Given the description of an element on the screen output the (x, y) to click on. 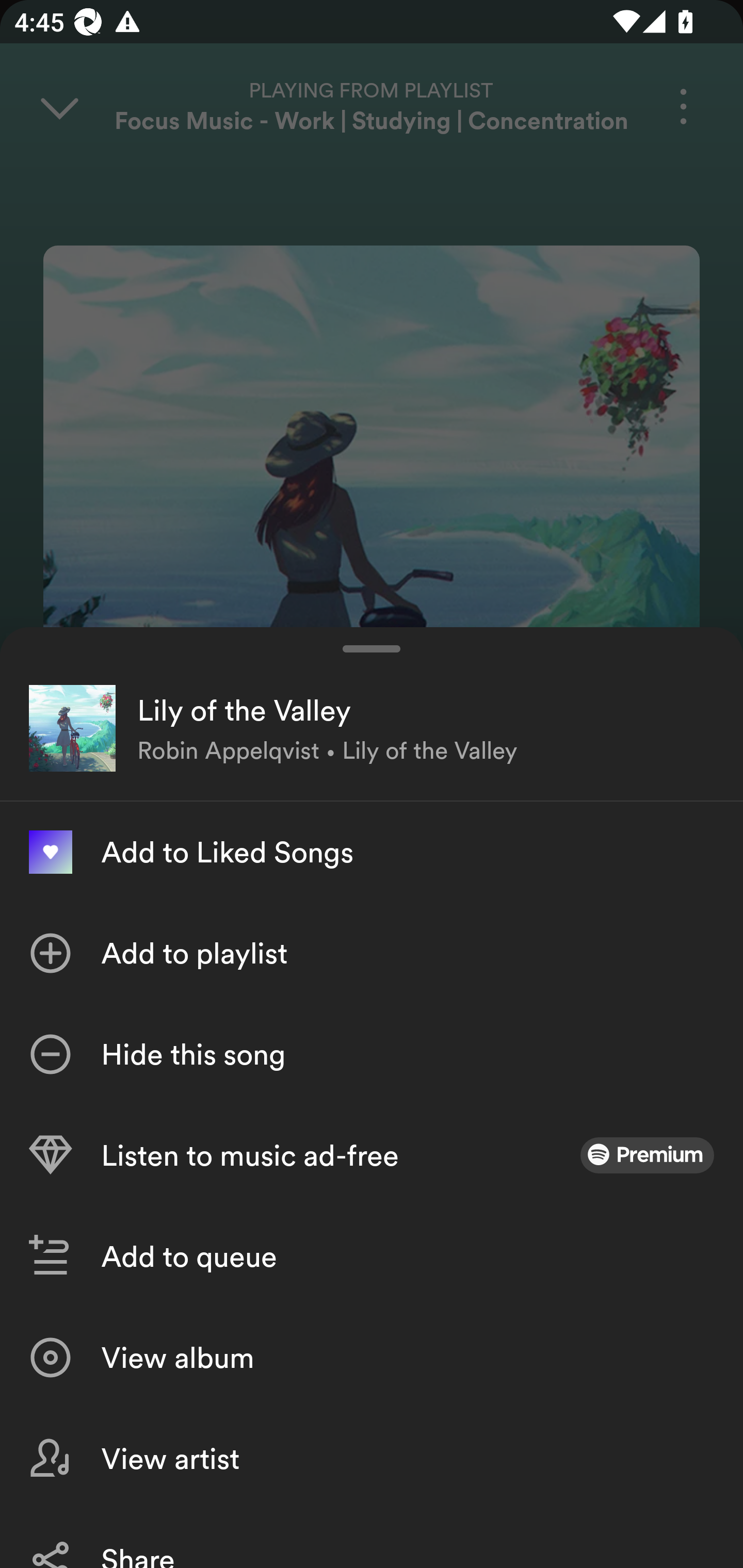
Add to Liked Songs (371, 852)
Add to playlist (371, 953)
Hide this song (371, 1054)
Listen to music ad-free (371, 1155)
Add to queue (371, 1256)
View album (371, 1357)
View artist (371, 1458)
Share (371, 1538)
